Given the description of an element on the screen output the (x, y) to click on. 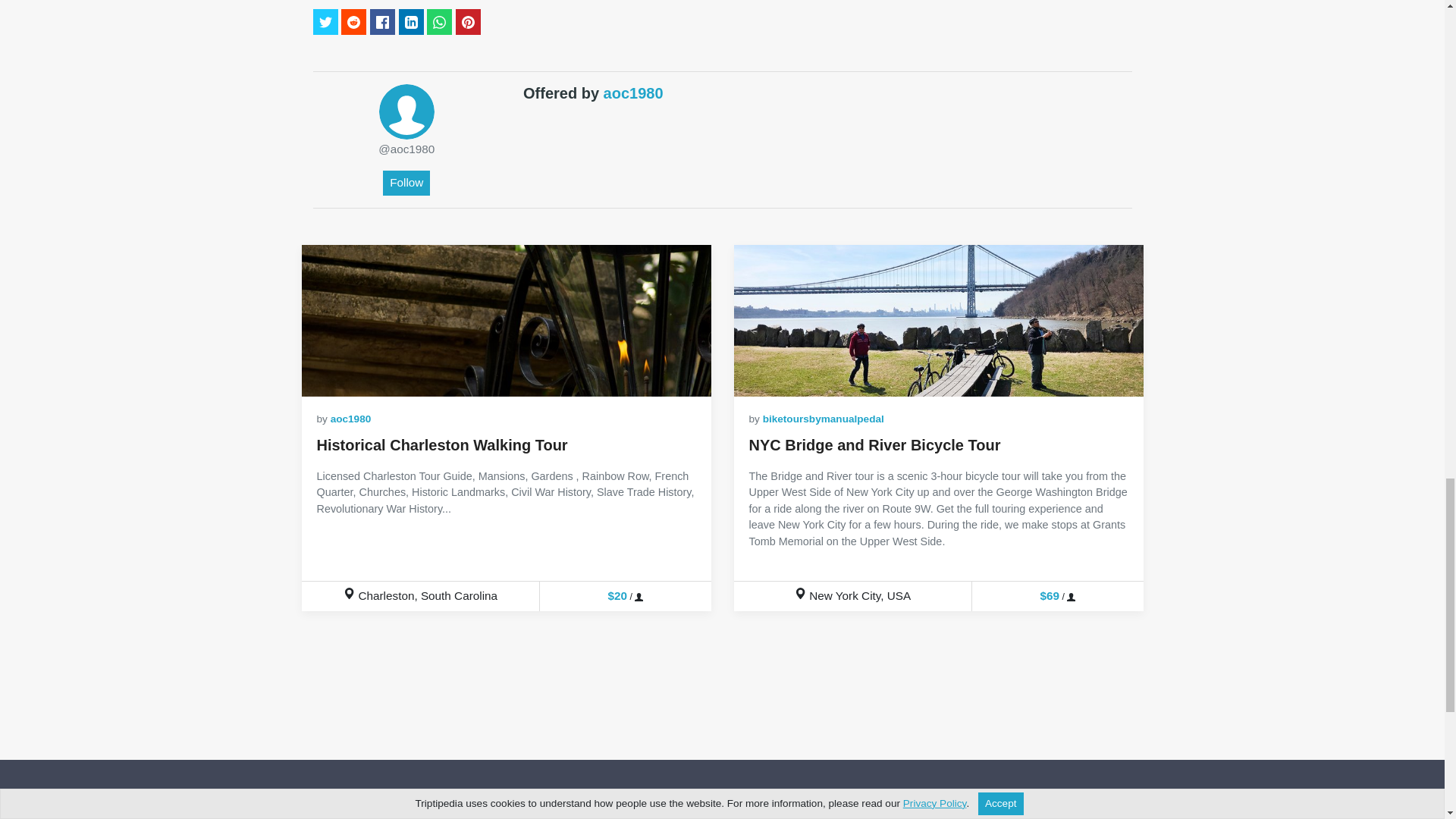
Share on Facebook (381, 22)
NYC Bridge and River Bicycle Tour  (937, 320)
biketoursbymanualpedal (822, 419)
aoc1980 (350, 419)
aoc1980 (405, 110)
Triptipedia (392, 810)
NYC Bridge and River Bicycle Tour (875, 444)
aoc1980 (633, 93)
Pin it (467, 22)
Share on Linkedin (410, 22)
Historical Charleston Walking Tour (442, 444)
NYC Bridge and River Bicycle Tour  (875, 444)
Share on Twitter (325, 22)
Share on WhatsApp (438, 22)
Historical Charleston Walking Tour (506, 320)
